Given the description of an element on the screen output the (x, y) to click on. 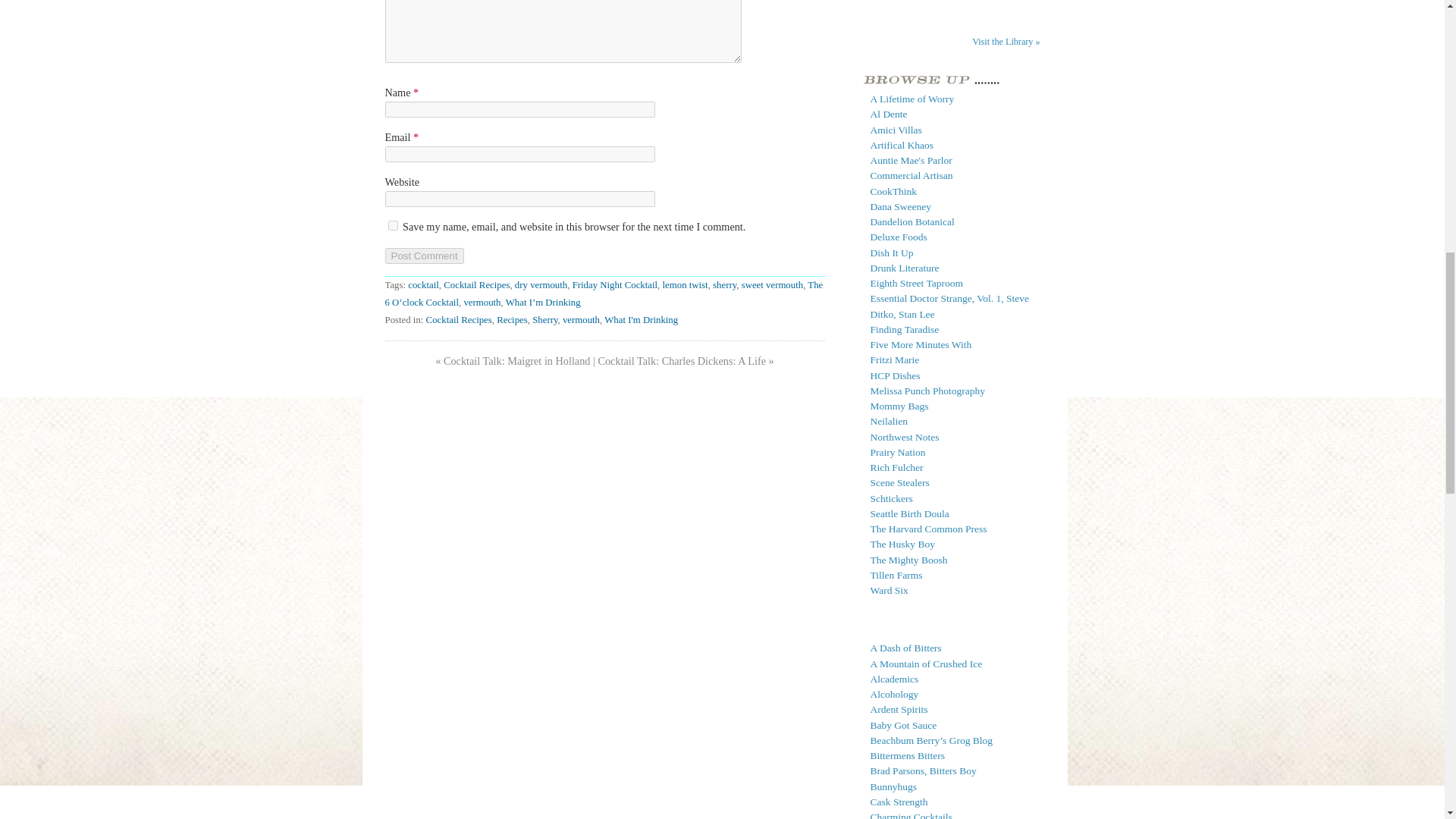
dry vermouth (541, 285)
vermouth (481, 302)
Sherry (544, 319)
Cocktail Talk: Charles Dickens: A Life (680, 360)
lemon twist (684, 285)
yes (392, 225)
Post Comment (424, 255)
Cocktail Talk: Maigret in Holland (516, 360)
What I'm Drinking (641, 319)
Recipes (511, 319)
